Given the description of an element on the screen output the (x, y) to click on. 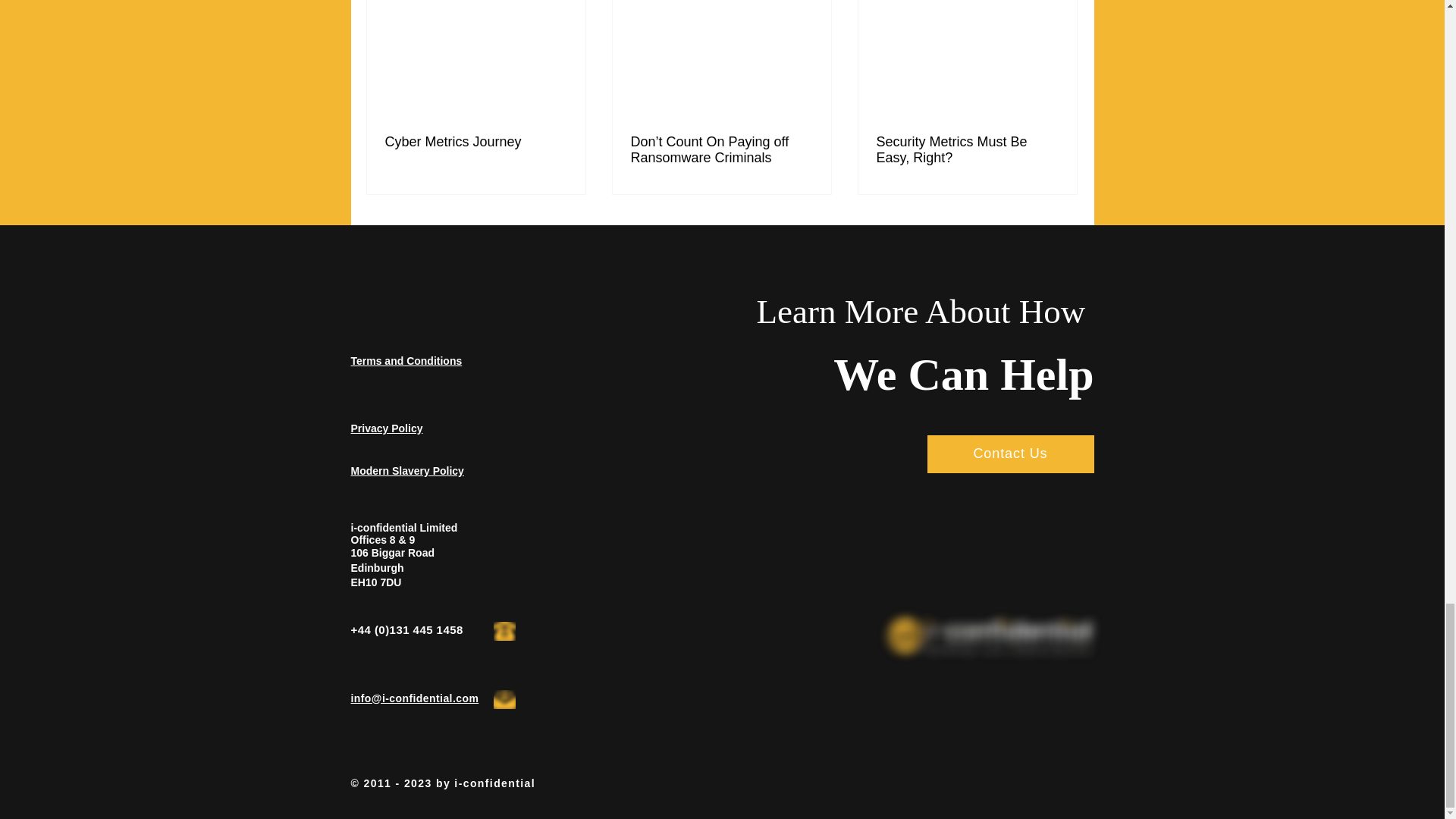
Cyber Metrics Journey (476, 141)
